Given the description of an element on the screen output the (x, y) to click on. 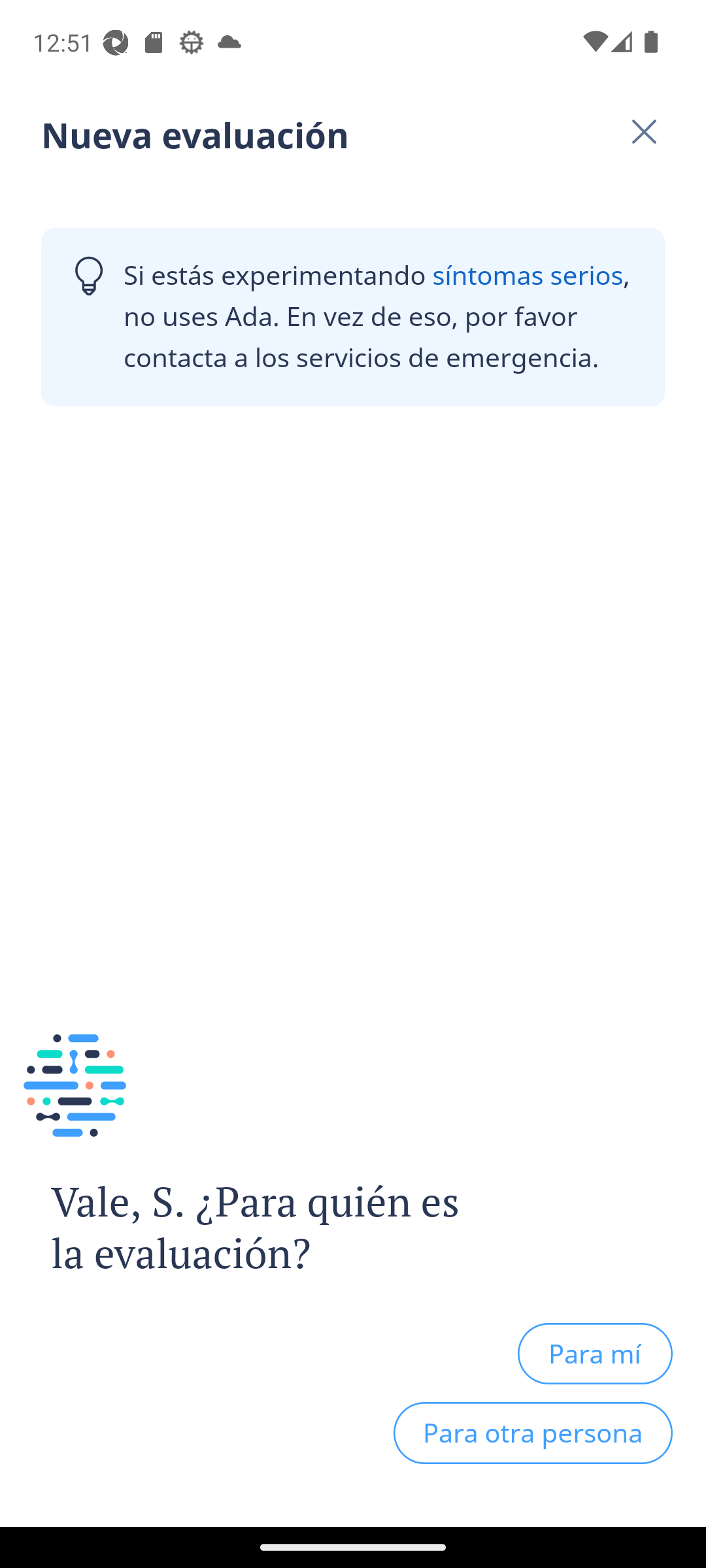
Vale, S. ¿Para quién es la evaluación? (240, 1227)
Para mí (594, 1352)
Para otra persona (532, 1432)
